Given the description of an element on the screen output the (x, y) to click on. 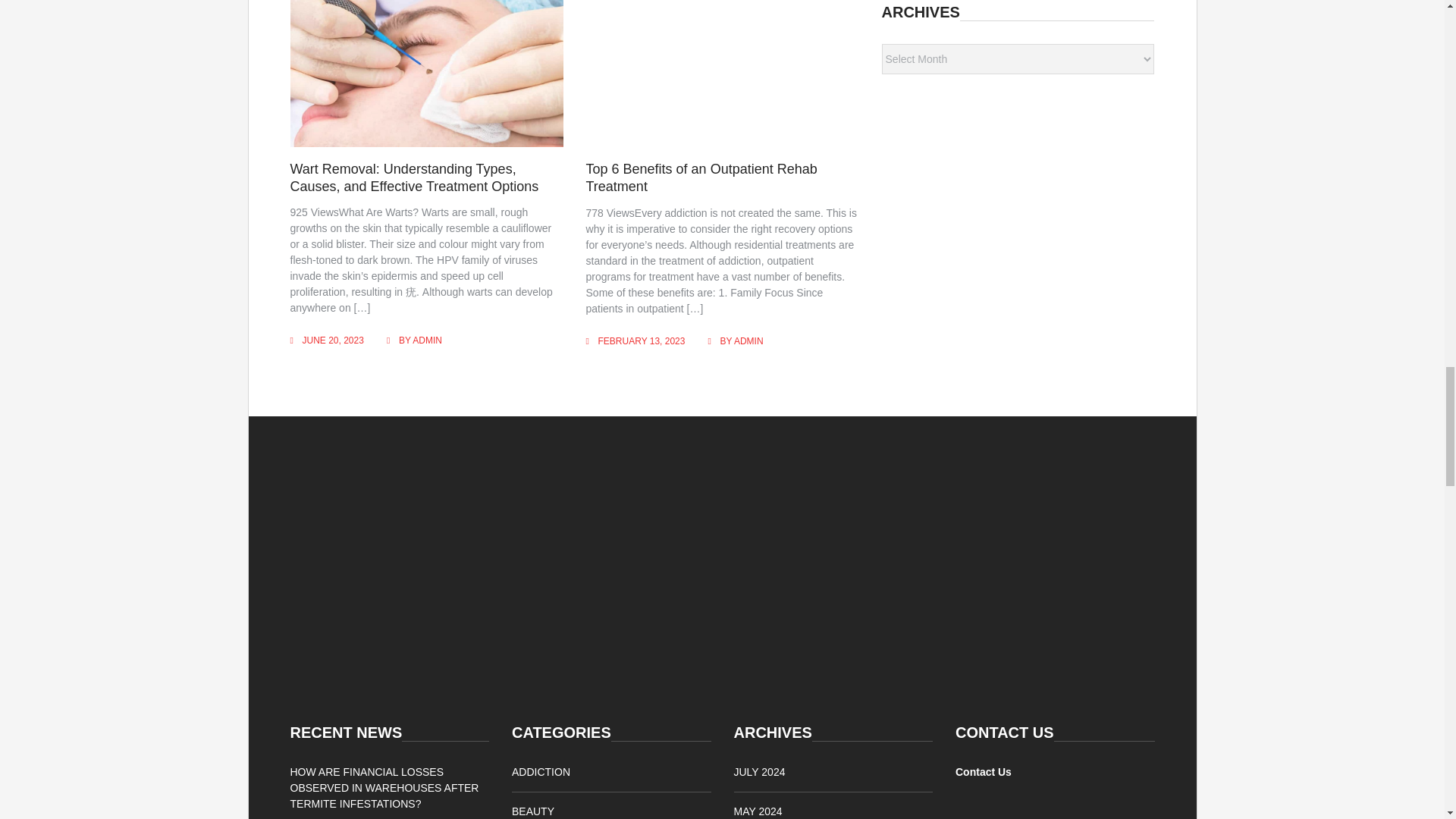
Top 6 Benefits of an Outpatient Rehab Treatment (701, 177)
JUNE 20, 2023 (331, 339)
ADMIN (747, 340)
ADMIN (427, 339)
FEBRUARY 13, 2023 (641, 340)
